Given the description of an element on the screen output the (x, y) to click on. 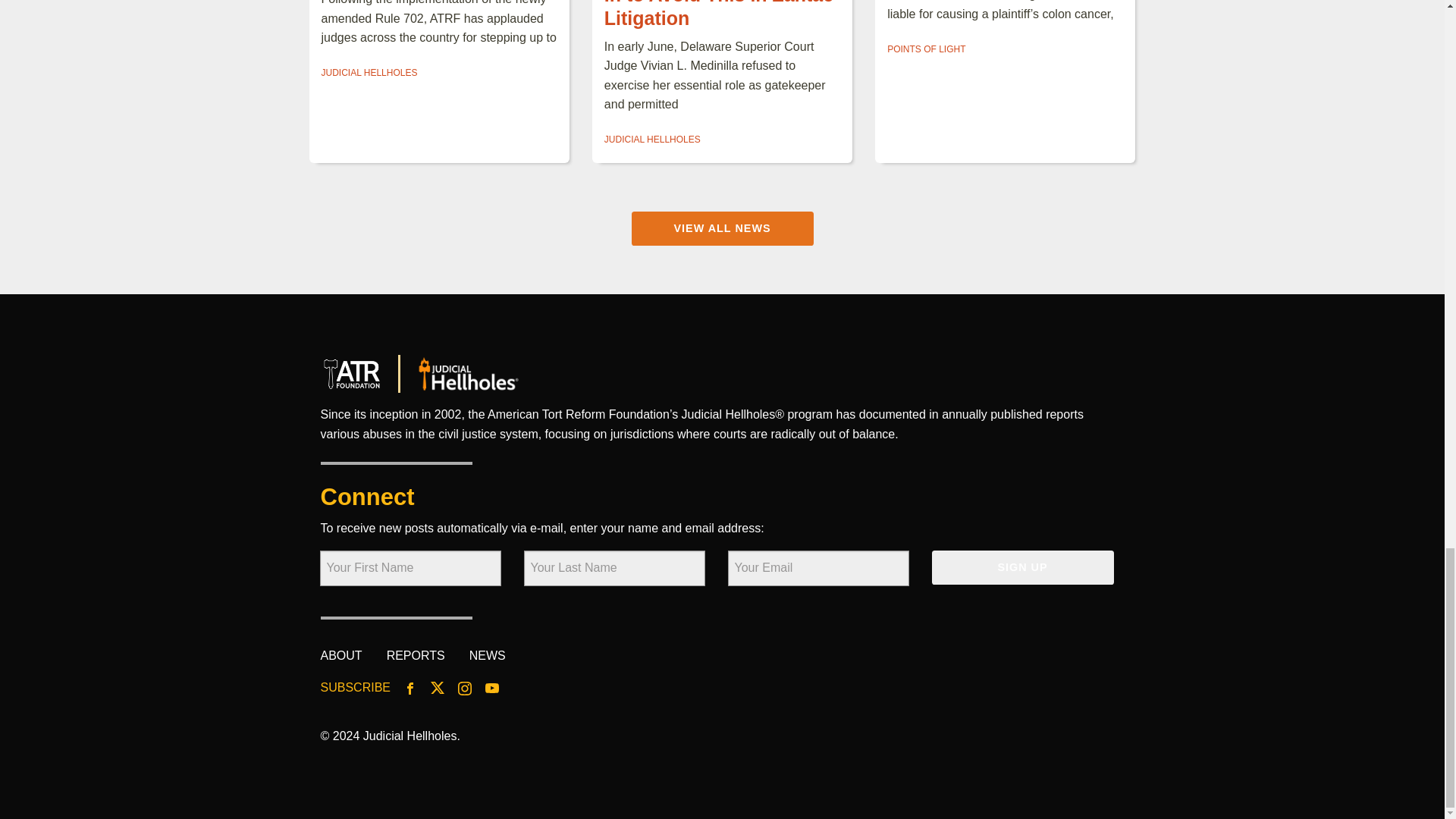
Sign Up (1022, 567)
